Given the description of an element on the screen output the (x, y) to click on. 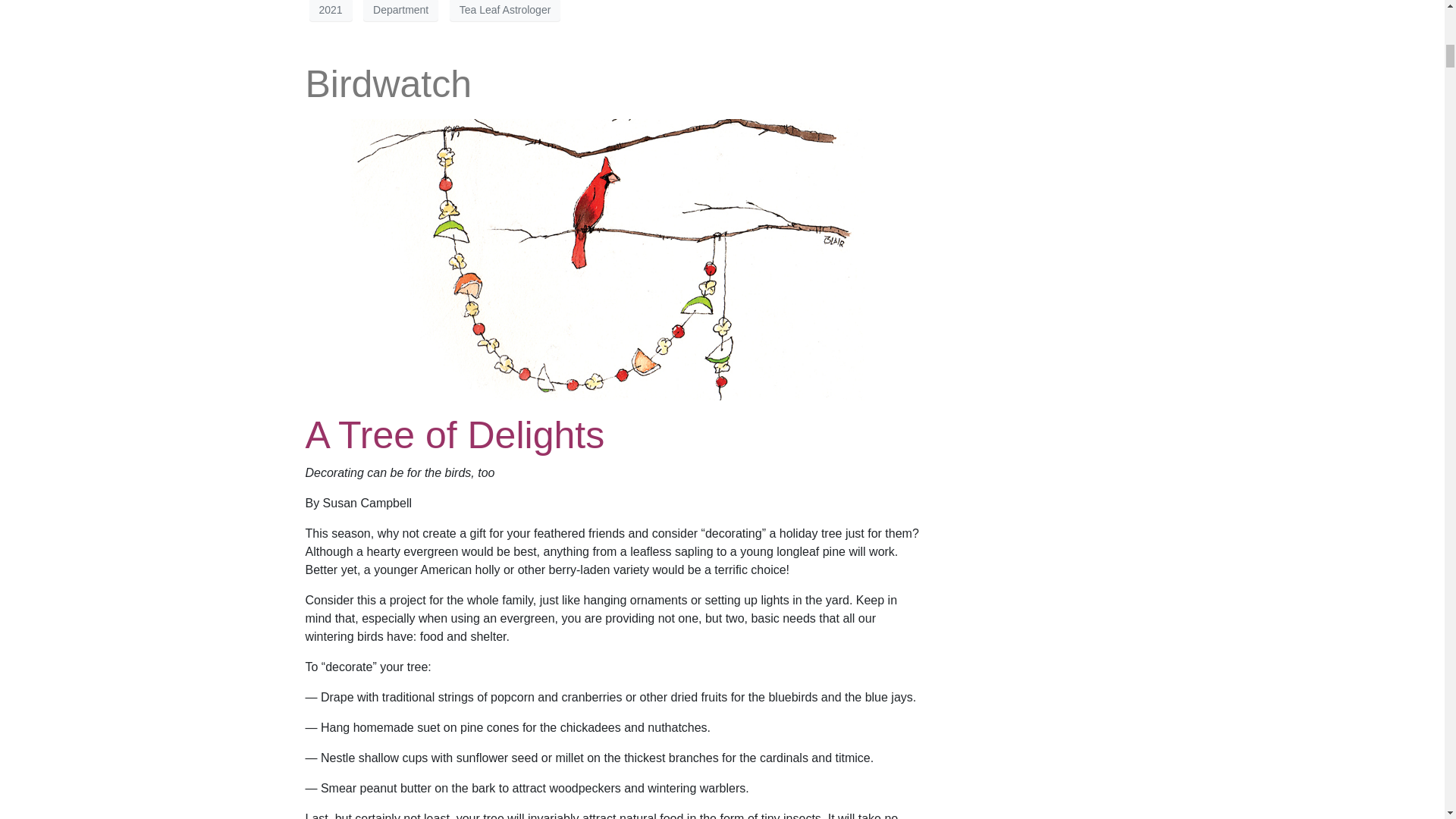
Birdwatch (387, 84)
Birdwatch (387, 84)
Tea Leaf Astrologer (504, 10)
Department (400, 10)
Birdwatch (613, 258)
2021 (330, 10)
